Given the description of an element on the screen output the (x, y) to click on. 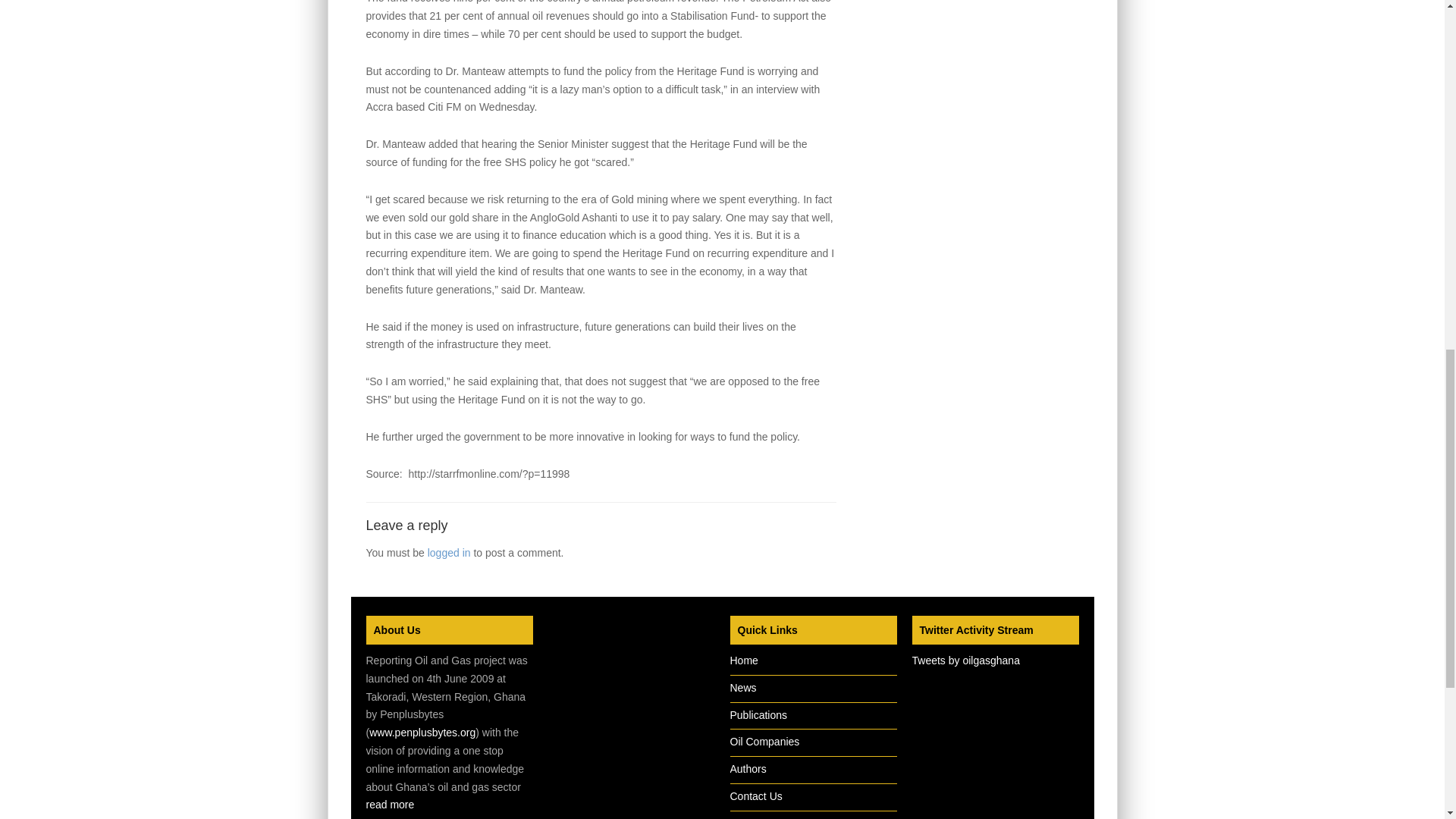
www.penplusbytes.org (422, 732)
News (742, 687)
Oil Companies (764, 741)
Tweets by oilgasghana (965, 660)
read more (389, 804)
logged in (449, 552)
Authors (747, 768)
Publications (758, 715)
Contact Us (755, 796)
Home (743, 660)
